Given the description of an element on the screen output the (x, y) to click on. 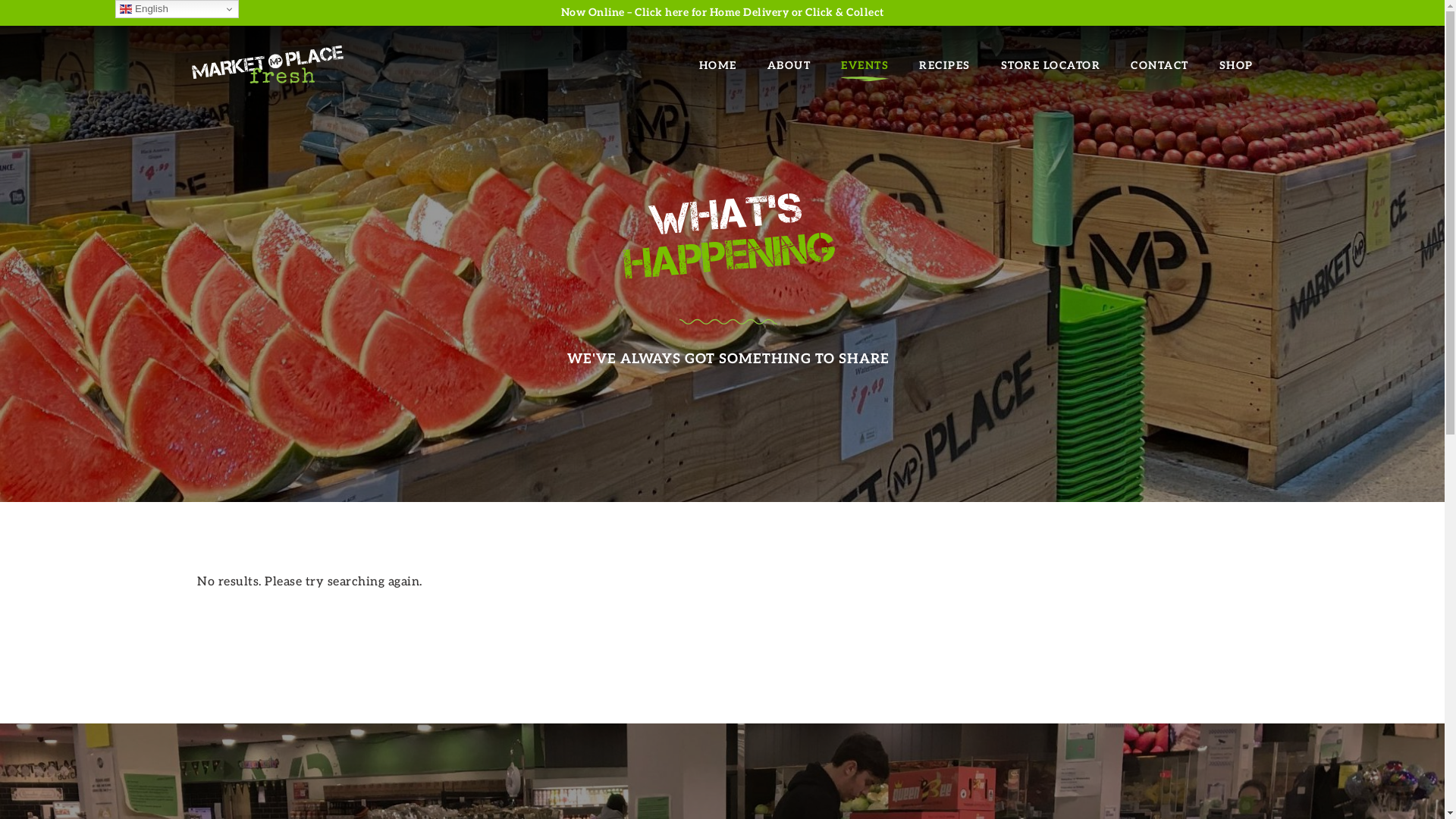
STORE LOCATOR Element type: text (1051, 65)
English Element type: text (176, 9)
SHOP Element type: text (1236, 65)
HOME Element type: text (718, 65)
CONTACT Element type: text (1159, 65)
RECIPES Element type: text (944, 65)
ABOUT Element type: text (789, 65)
EVENTS Element type: text (864, 65)
